Given the description of an element on the screen output the (x, y) to click on. 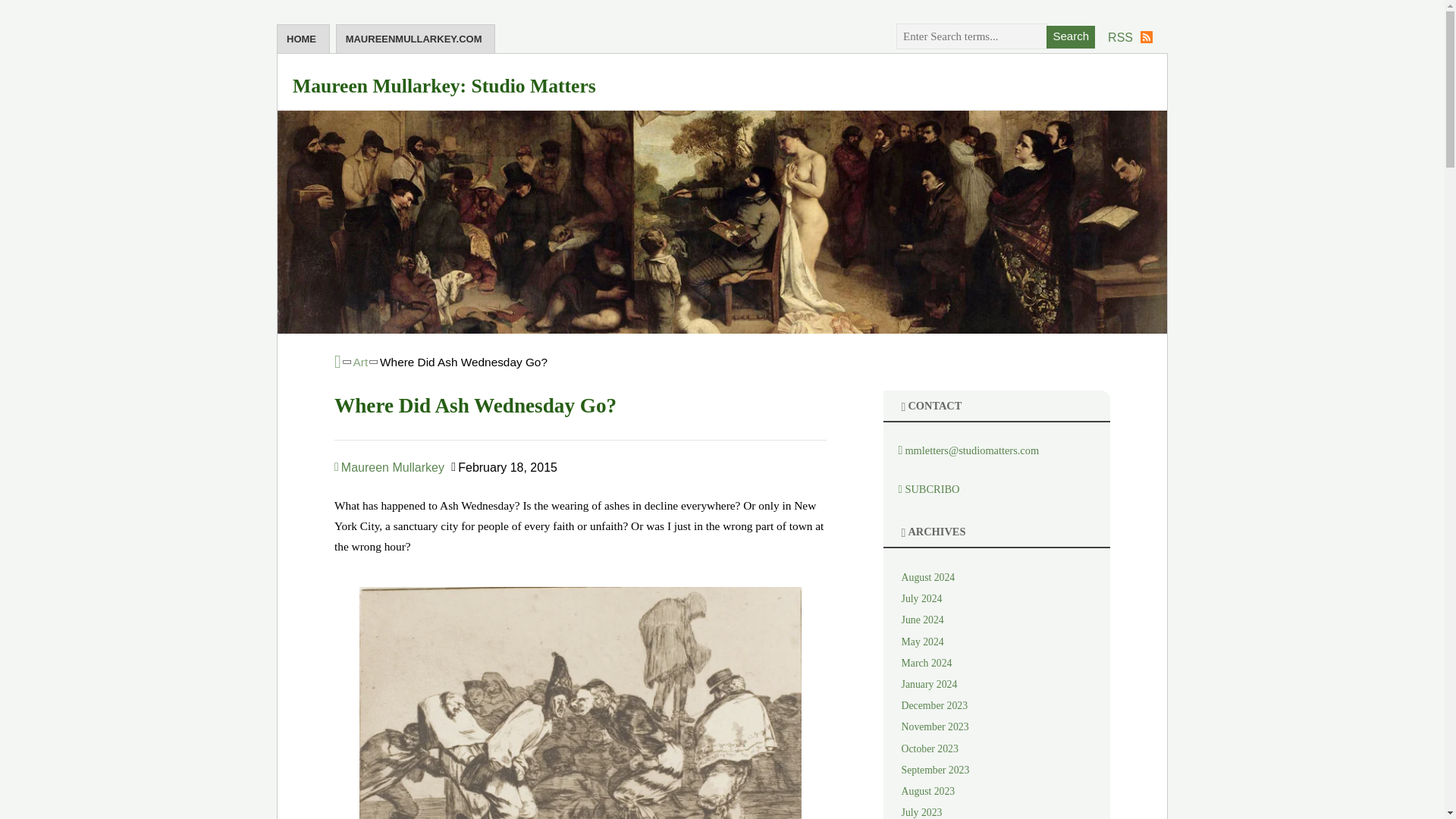
August 2023 (928, 790)
July 2024 (921, 598)
Search (1070, 36)
June 2024 (922, 619)
Posts by Maureen Mullarkey (389, 467)
October 2023 (929, 748)
Search for: (972, 36)
HOME (303, 38)
March 2024 (926, 663)
Search (1070, 36)
RSS (1130, 37)
January 2024 (929, 684)
Maureen Mullarkey: Studio Matters (443, 86)
Search (1070, 36)
Maureen Mullarkey (389, 467)
